Given the description of an element on the screen output the (x, y) to click on. 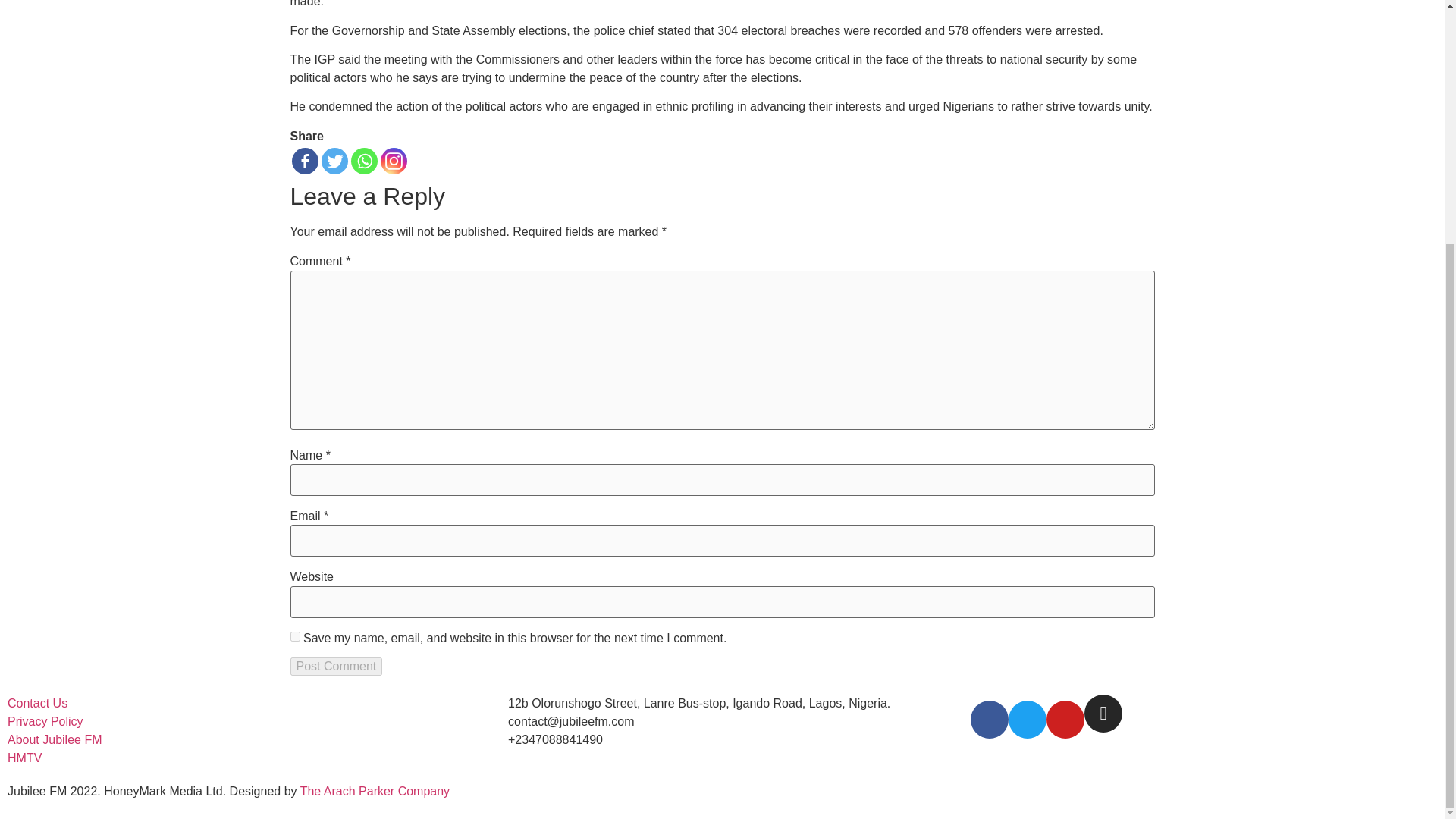
Post Comment (335, 666)
yes (294, 636)
Post Comment (335, 666)
Whatsapp (363, 161)
HMTV (24, 758)
Instagram (393, 161)
The Arach Parker Company (374, 790)
About Jubilee FM (54, 740)
Privacy Policy (44, 721)
Facebook (304, 161)
Contact Us (36, 703)
Twitter (334, 161)
